Given the description of an element on the screen output the (x, y) to click on. 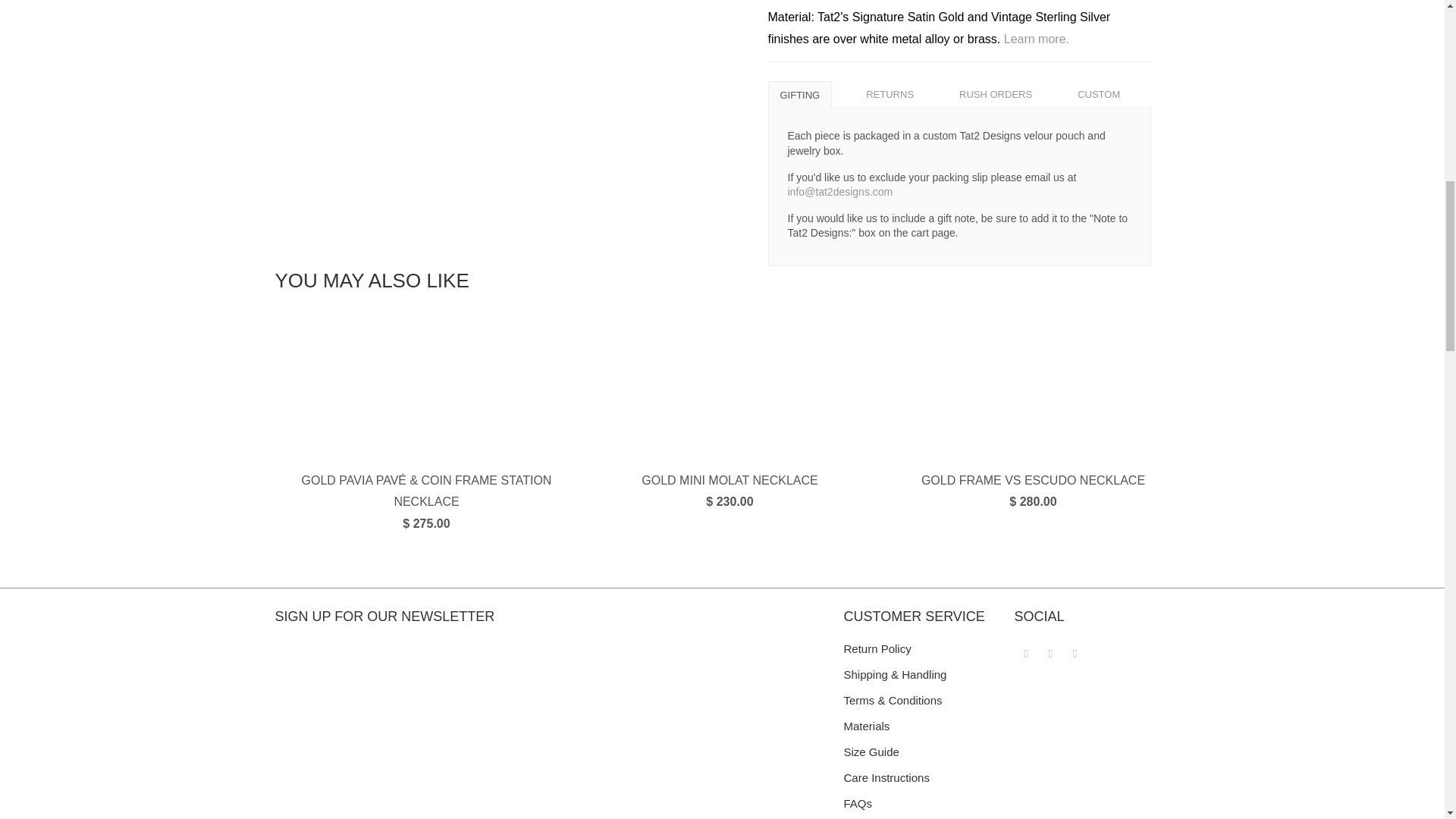
EGP (970, 274)
CZK (970, 100)
Tat2 Designs on Instagram (1050, 652)
ETB (970, 309)
Email Tat2 Designs (1074, 652)
DOP (970, 205)
CNY (970, 6)
CVE (970, 65)
DJF (970, 135)
EUR (970, 344)
